Given the description of an element on the screen output the (x, y) to click on. 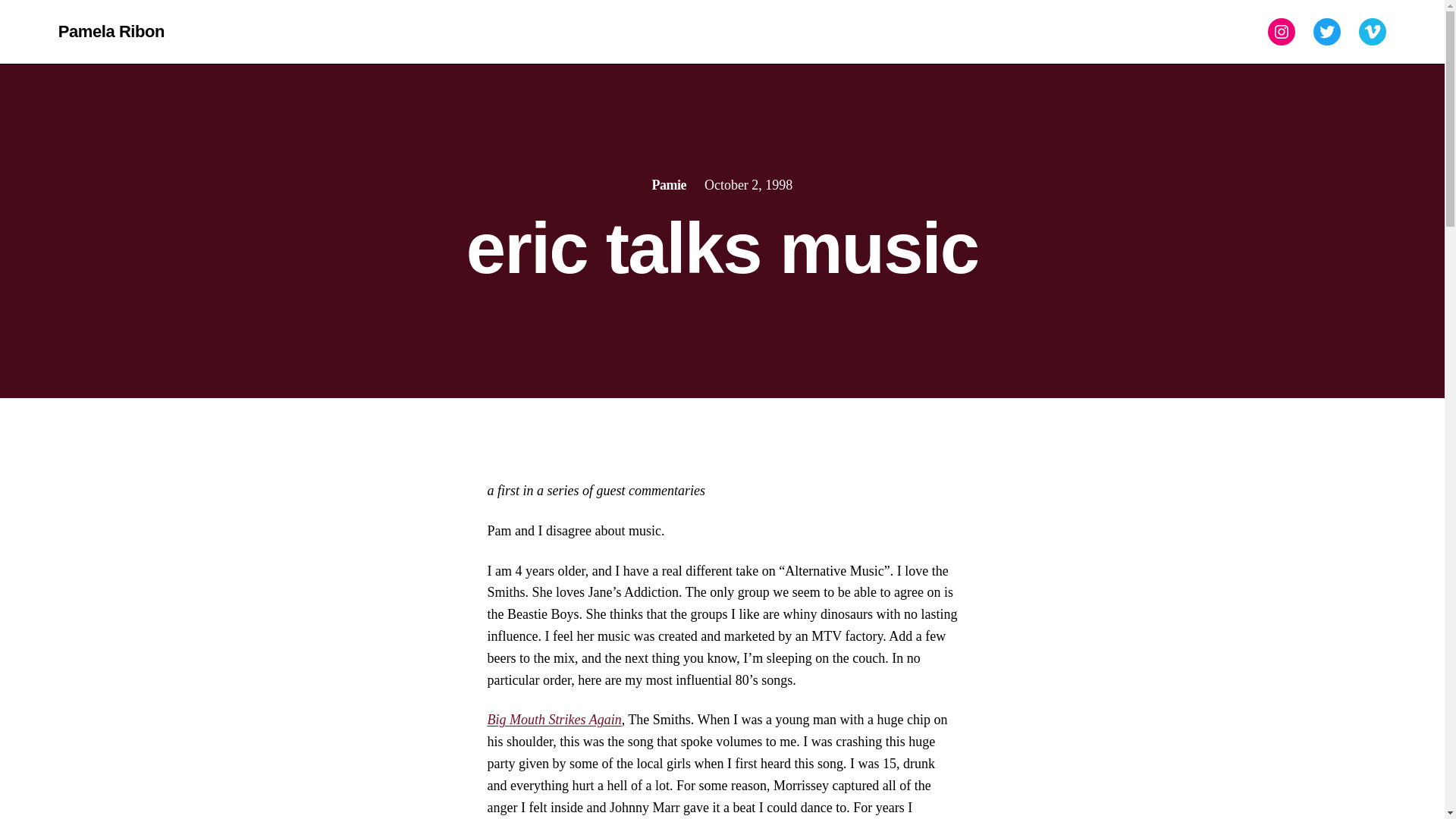
Instagram (1281, 31)
Big Mouth Strikes Again (553, 719)
Vimeo (1372, 31)
Twitter (1326, 31)
Pamie (668, 184)
Pamela Ribon (111, 31)
